Given the description of an element on the screen output the (x, y) to click on. 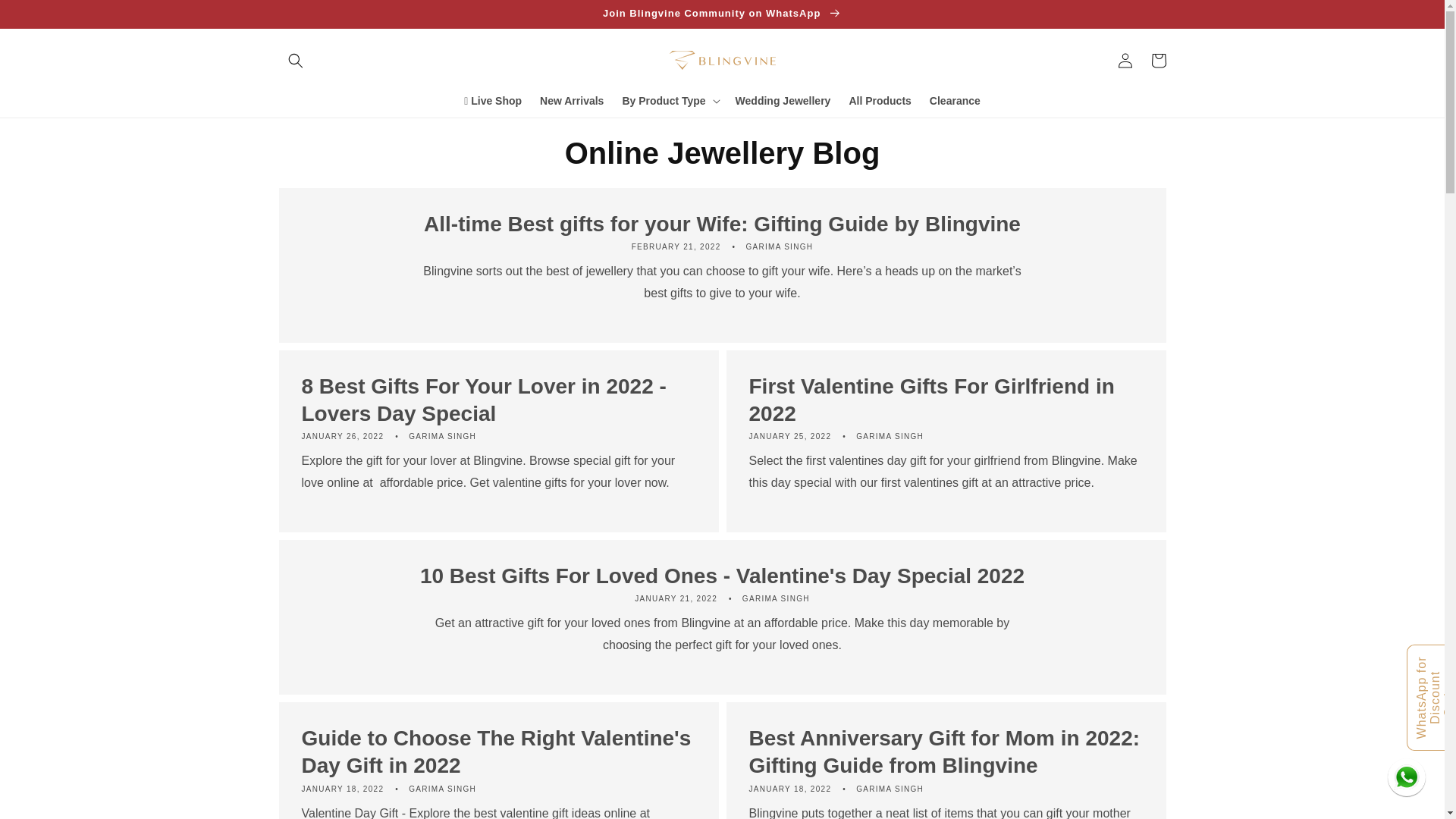
Log in (1124, 60)
Skip to content (45, 16)
Contact Us (1406, 777)
New Arrivals (571, 101)
Cart (1157, 60)
Clearance (955, 101)
Wedding Jewellery (783, 101)
All Products (880, 101)
